Given the description of an element on the screen output the (x, y) to click on. 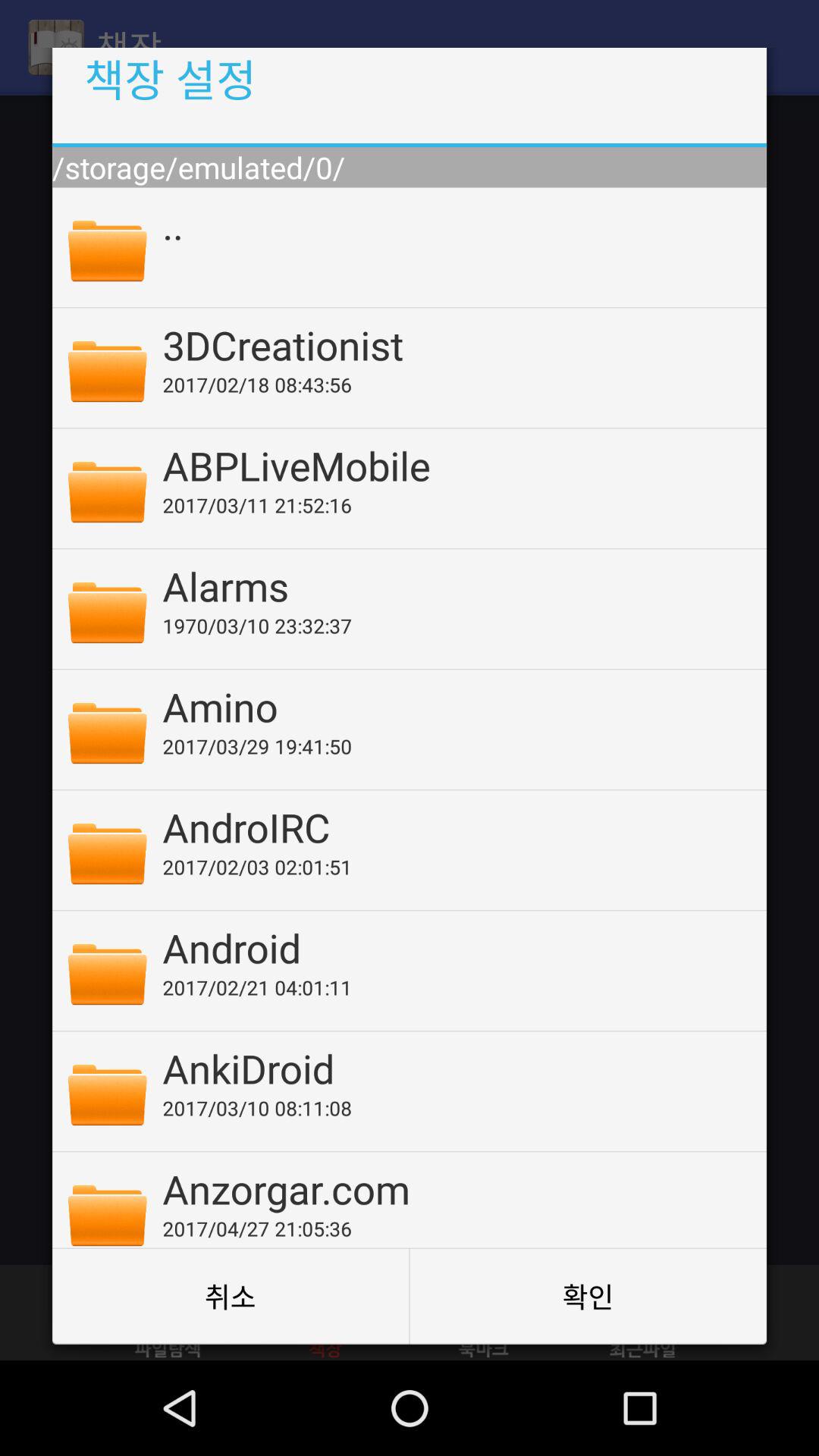
jump until the android app (454, 947)
